Given the description of an element on the screen output the (x, y) to click on. 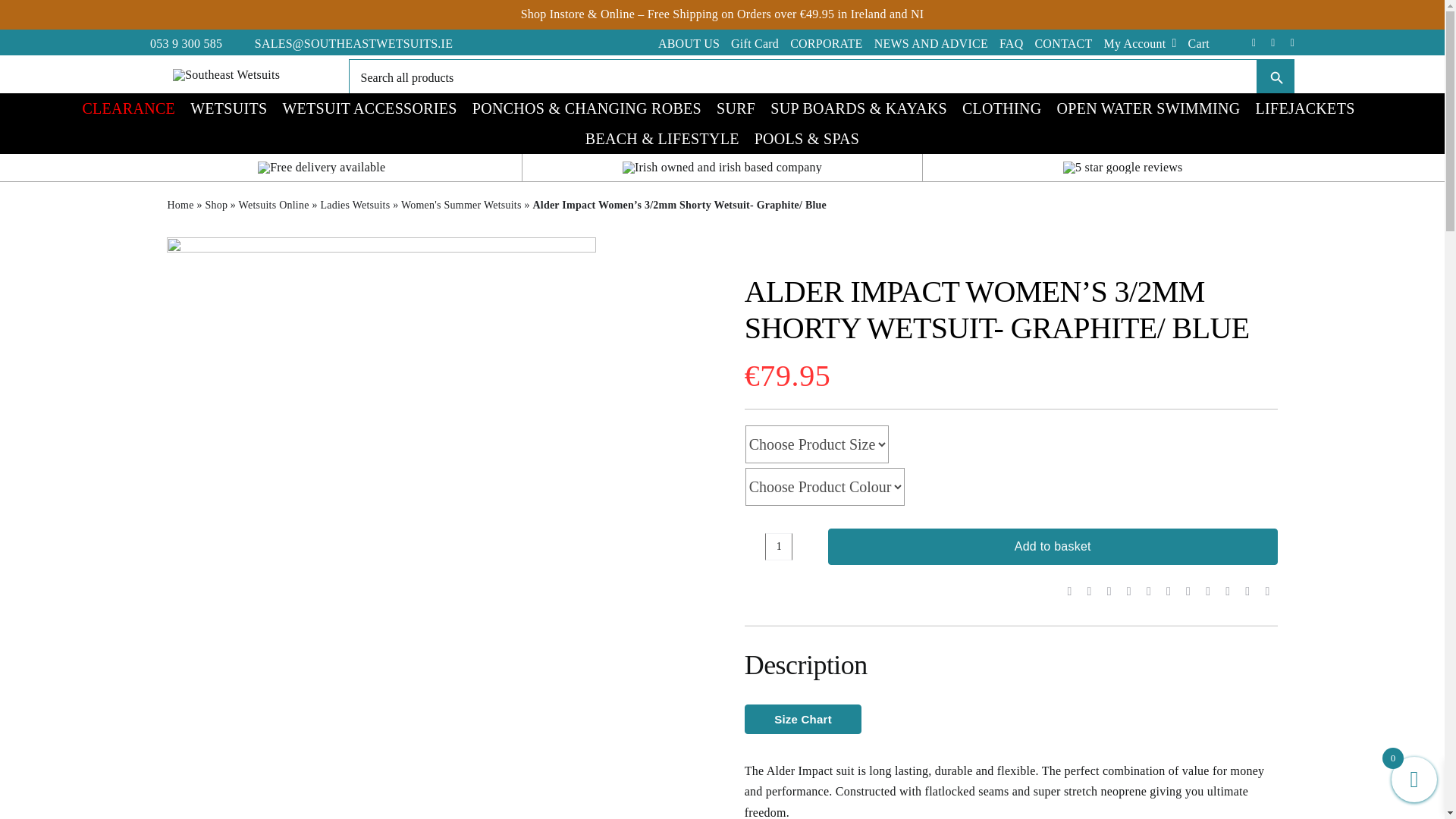
1 (778, 546)
5-star-google-reviews-2 (1122, 166)
South East Logo (226, 74)
Free-Shipping-Asterix-Desktop (321, 166)
Irish Based (721, 166)
